Given the description of an element on the screen output the (x, y) to click on. 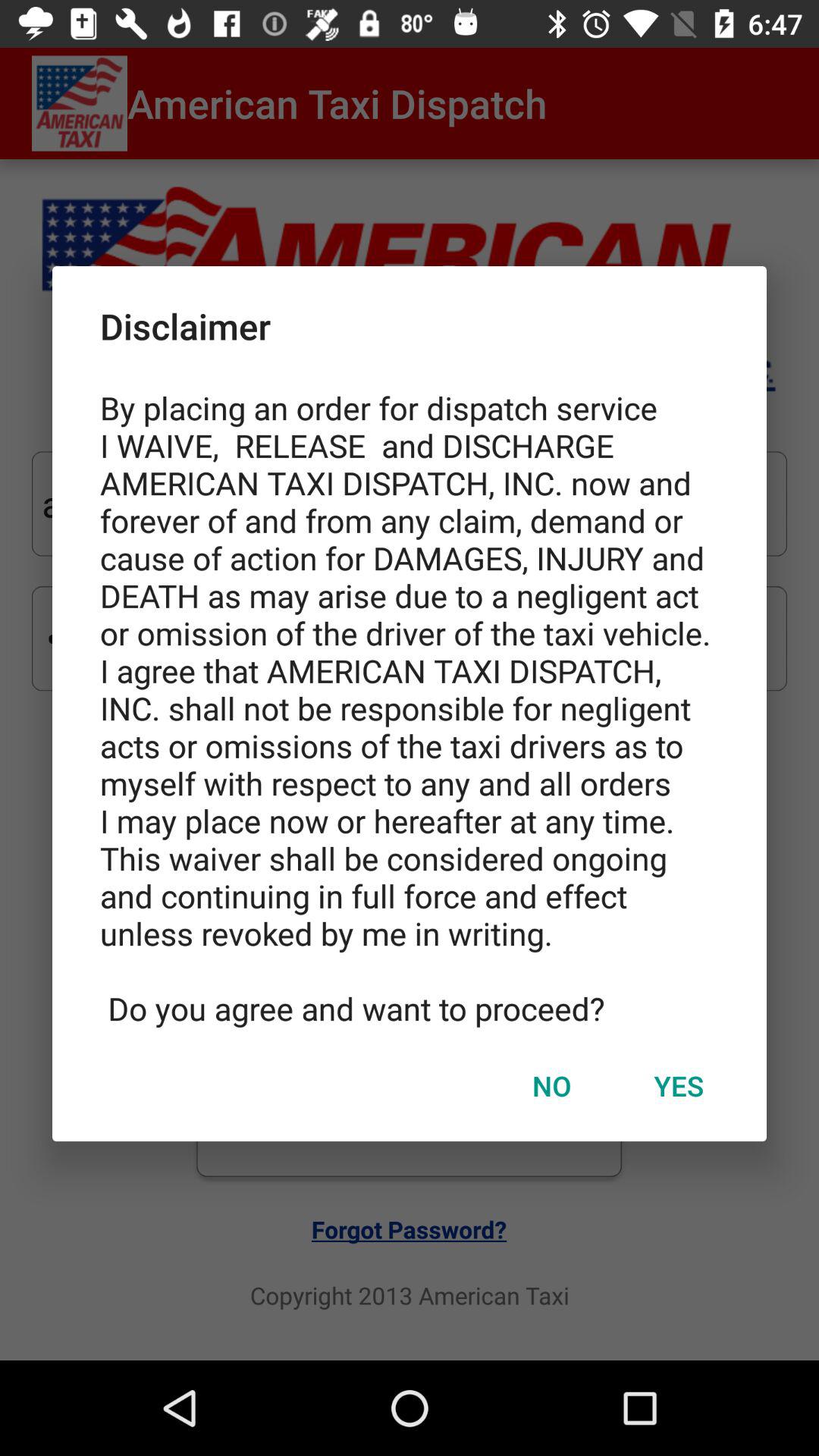
choose the icon to the right of no icon (678, 1085)
